Given the description of an element on the screen output the (x, y) to click on. 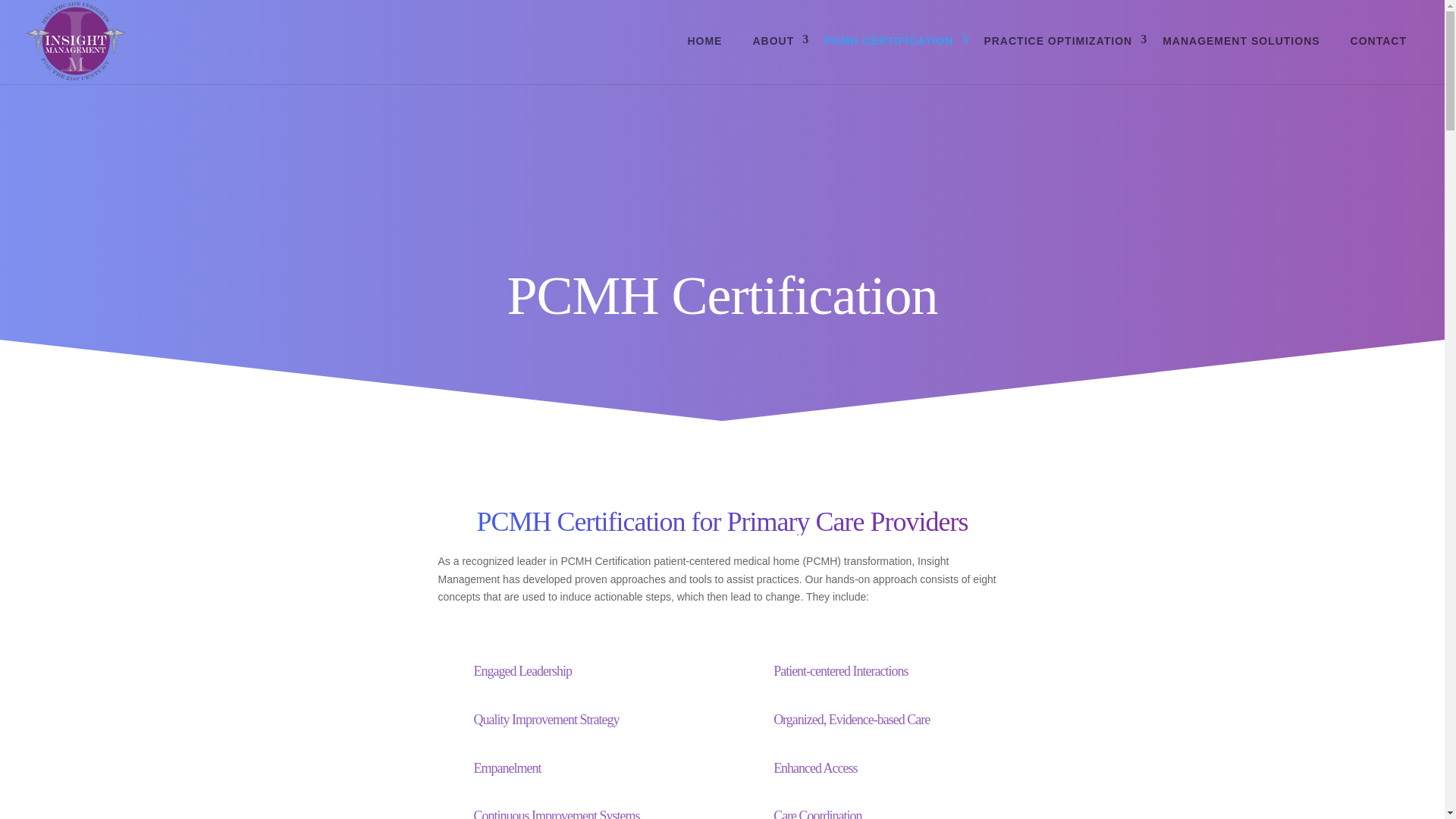
CONTACT (1378, 41)
HOME (703, 41)
ABOUT (772, 41)
PCMH CERTIFICATION (888, 41)
MANAGEMENT SOLUTIONS (1241, 41)
PRACTICE OPTIMIZATION (1057, 41)
